Given the description of an element on the screen output the (x, y) to click on. 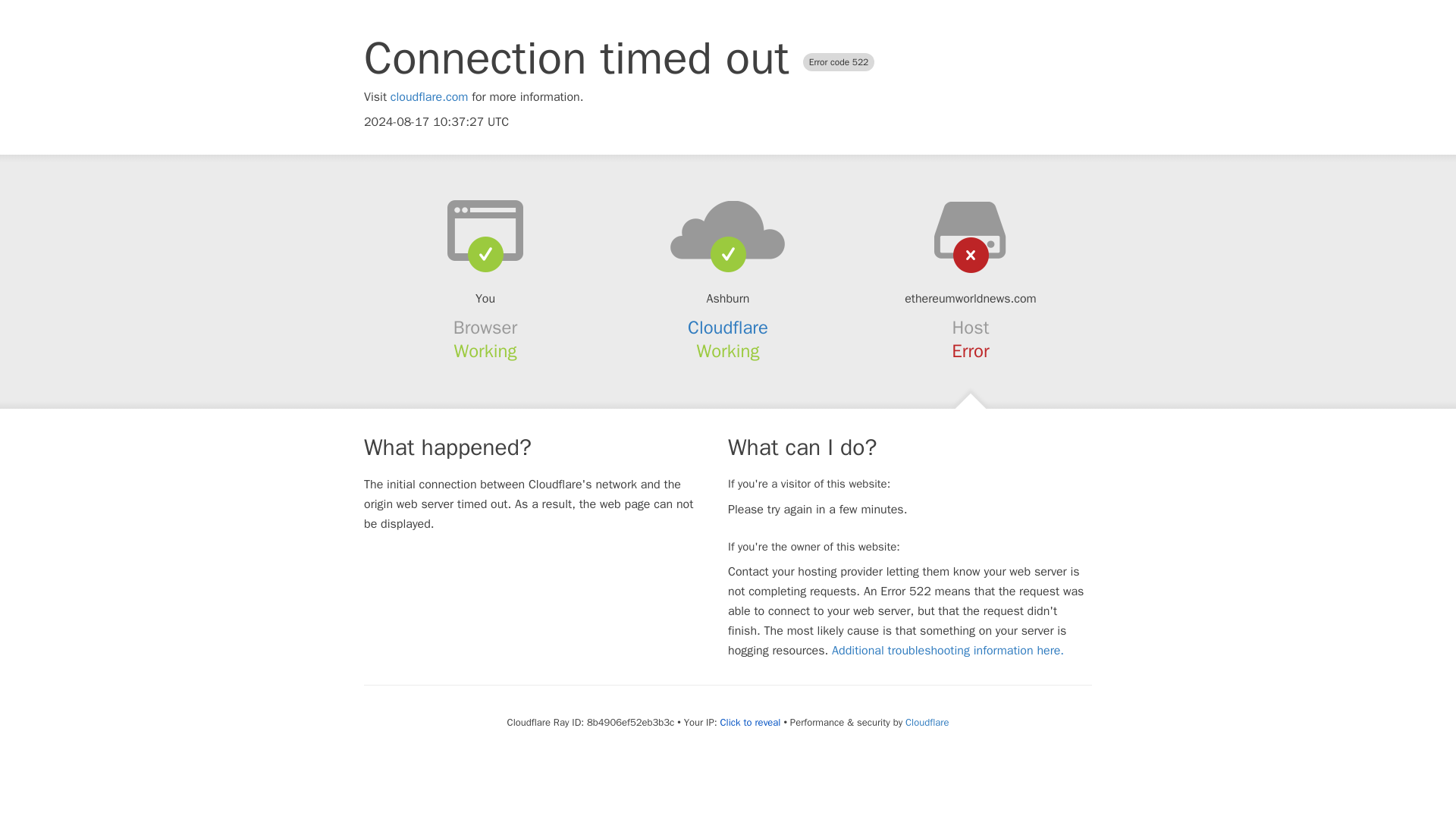
Cloudflare (727, 327)
Additional troubleshooting information here. (947, 650)
cloudflare.com (429, 96)
Cloudflare (927, 721)
Click to reveal (750, 722)
